Given the description of an element on the screen output the (x, y) to click on. 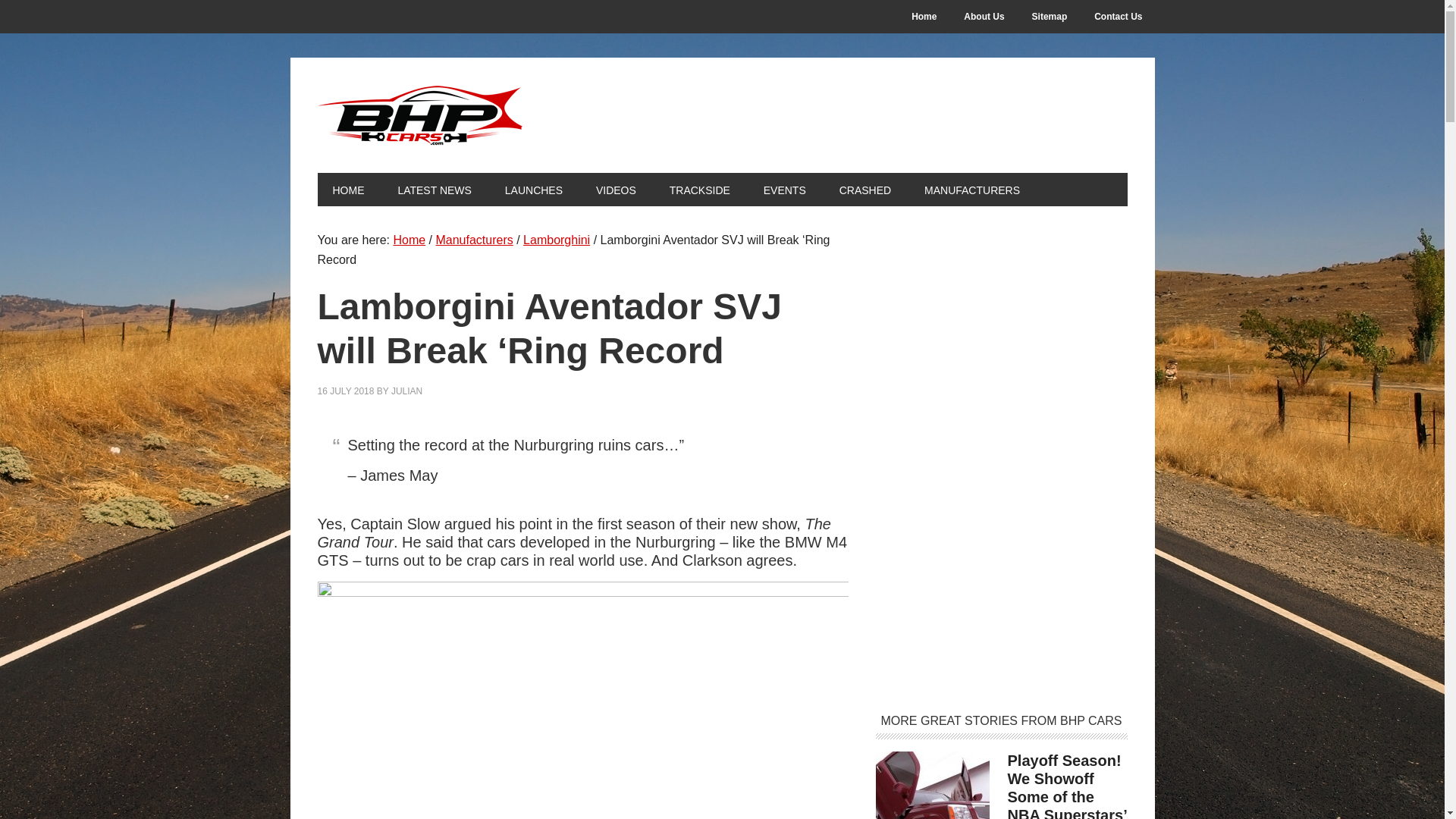
CRASHED (864, 189)
Sitemap (1050, 16)
LATEST NEWS (433, 189)
LAUNCHES (533, 189)
HOME (347, 189)
EVENTS (784, 189)
Contact Us (1117, 16)
About Us (984, 16)
Advertisement (1002, 578)
Advertisement (1002, 336)
Manufacturers (473, 239)
MANUFACTURERS (971, 189)
TRACKSIDE (699, 189)
VIDEOS (615, 189)
Home (409, 239)
